Given the description of an element on the screen output the (x, y) to click on. 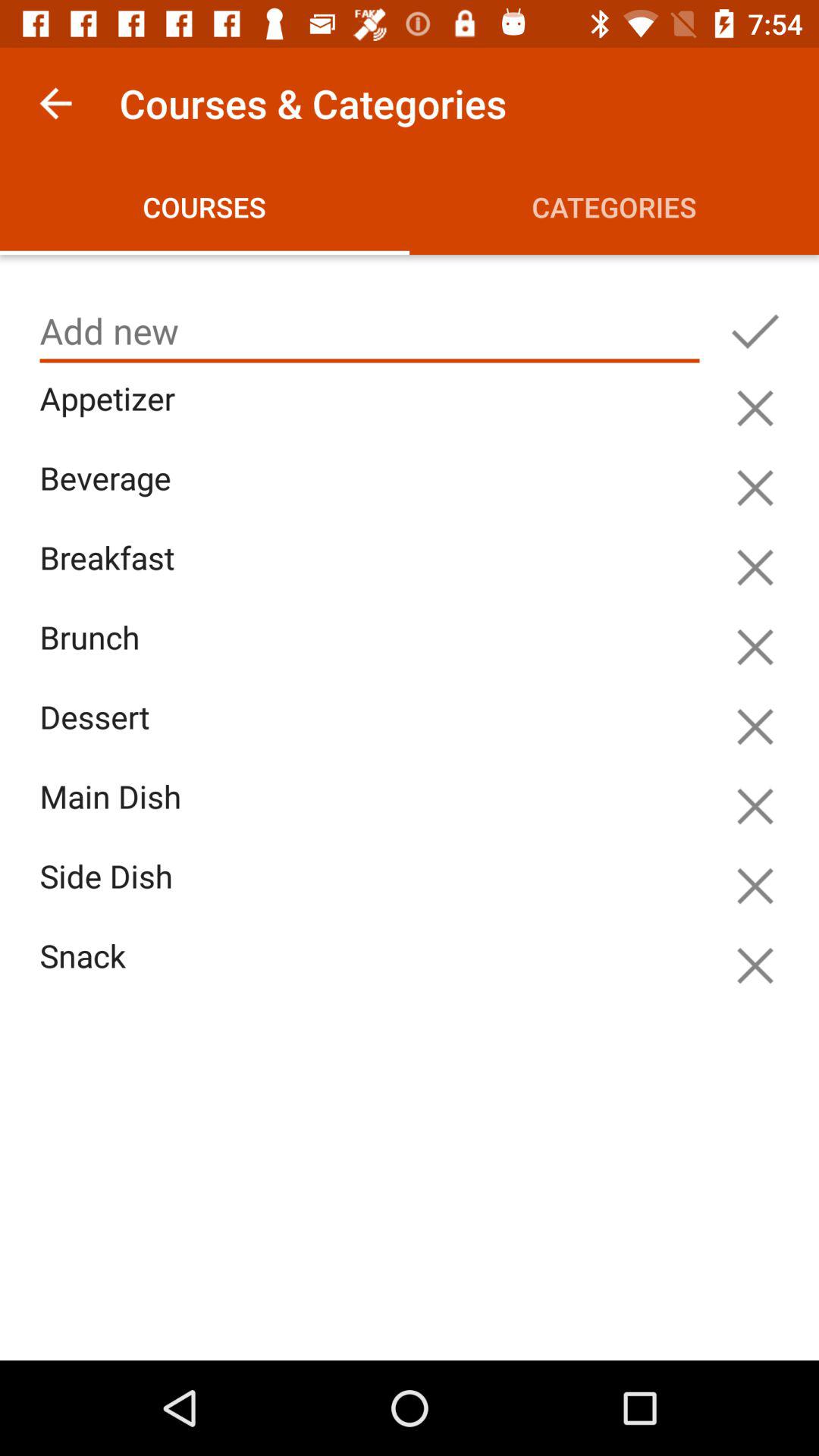
cancel (755, 487)
